Given the description of an element on the screen output the (x, y) to click on. 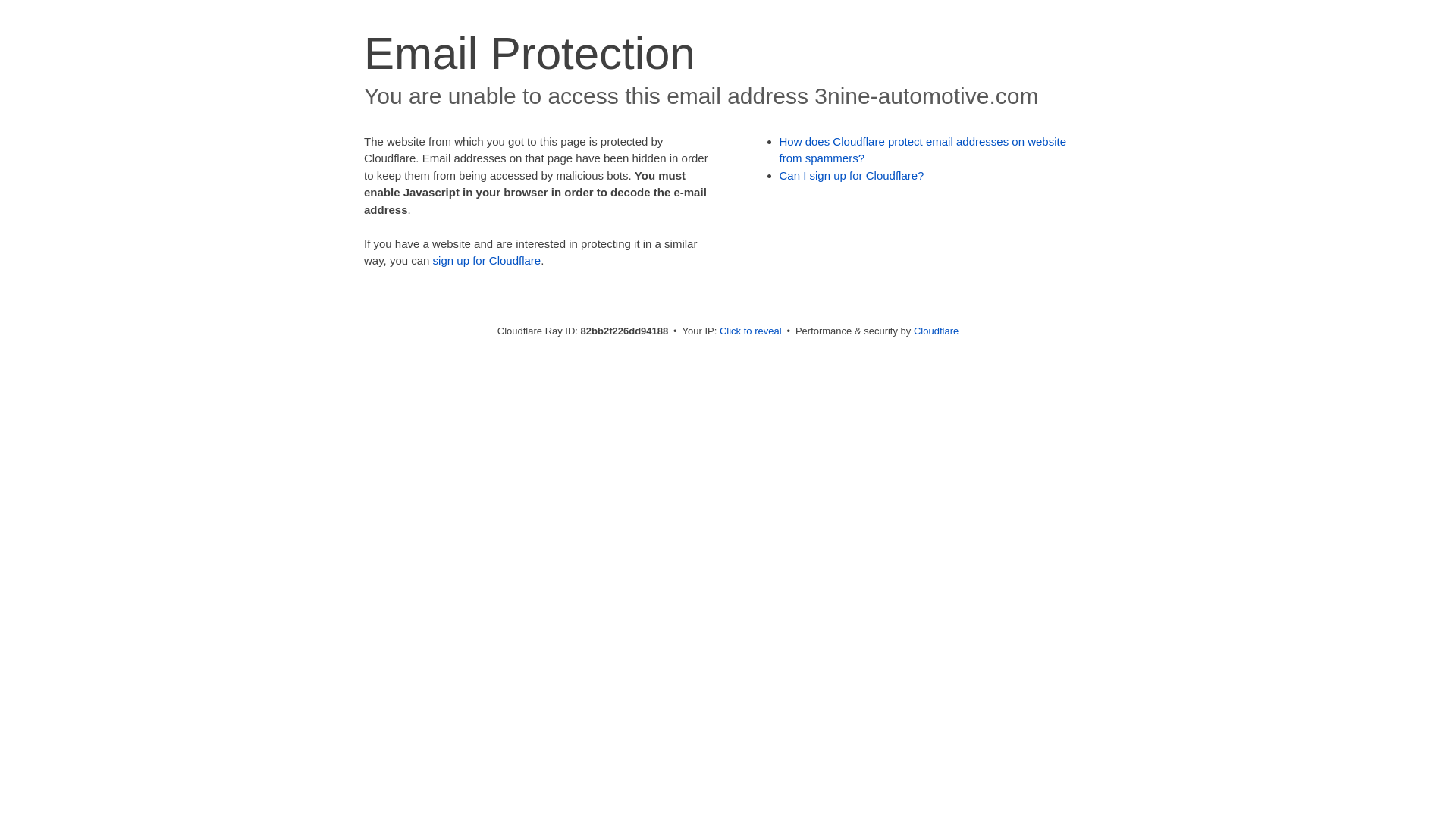
Cloudflare Element type: text (935, 330)
Click to reveal Element type: text (750, 330)
sign up for Cloudflare Element type: text (487, 260)
Can I sign up for Cloudflare? Element type: text (851, 175)
